Given the description of an element on the screen output the (x, y) to click on. 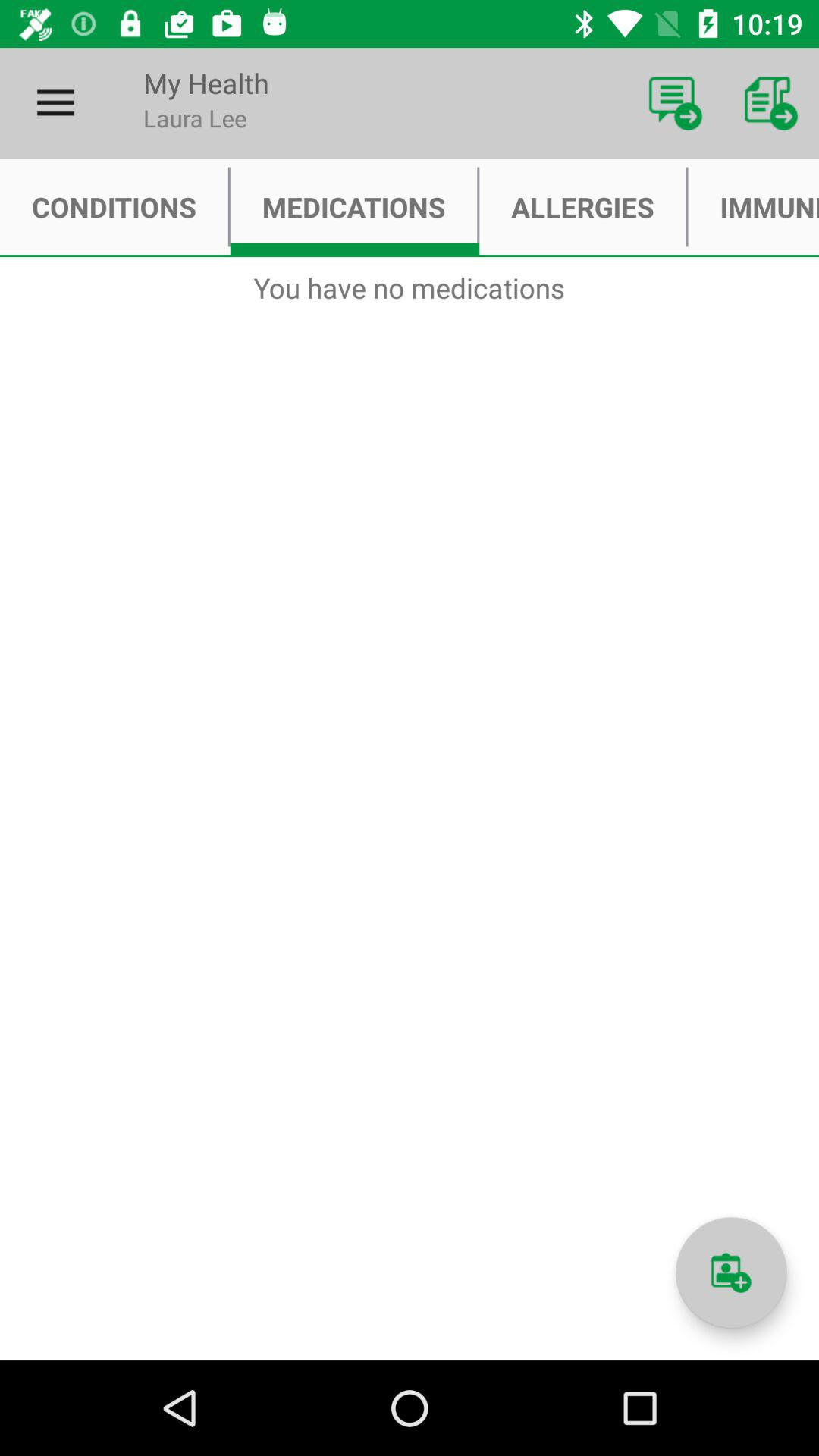
press the item next to my health item (55, 103)
